Given the description of an element on the screen output the (x, y) to click on. 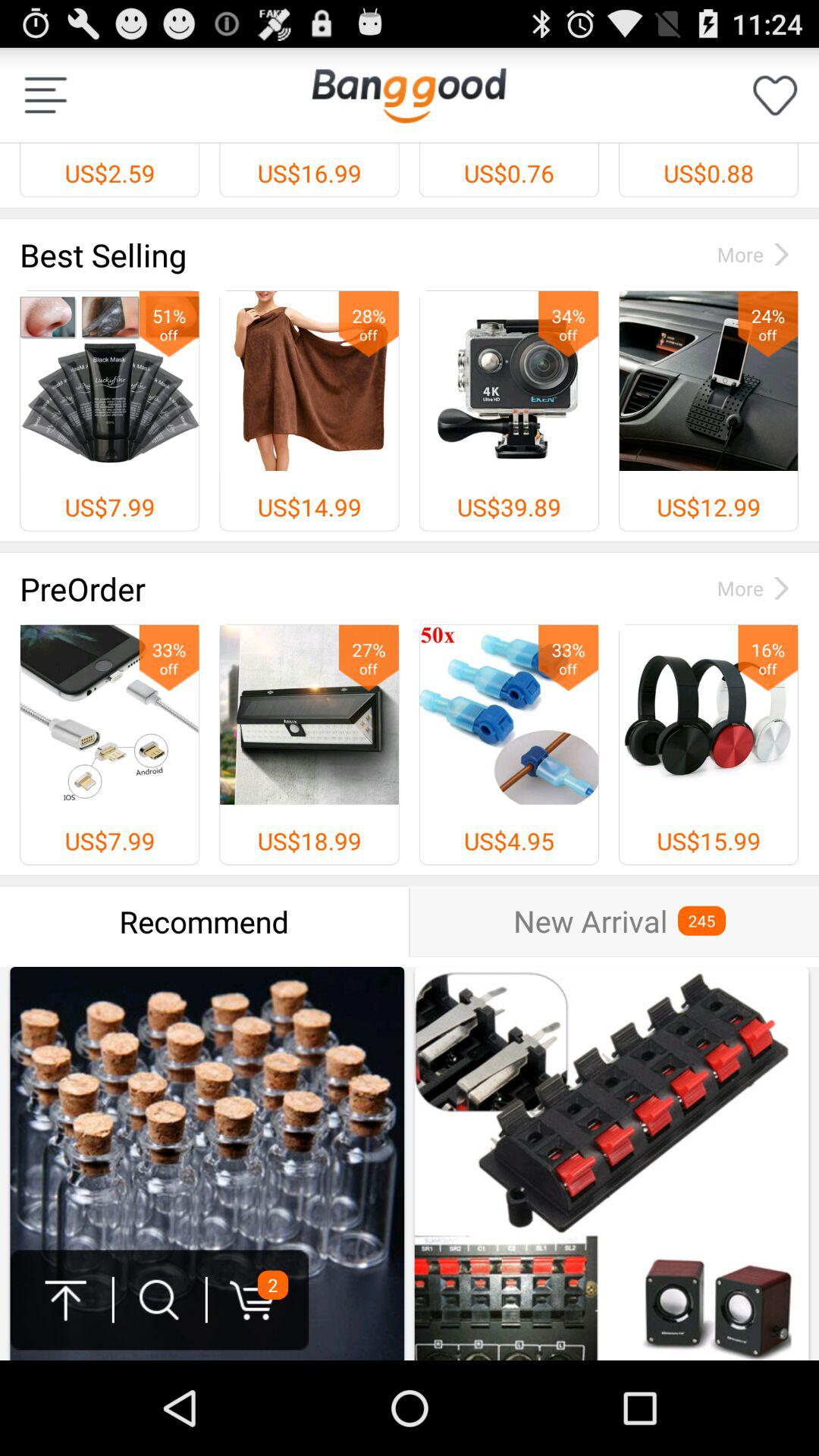
switch to homepage (409, 95)
